Given the description of an element on the screen output the (x, y) to click on. 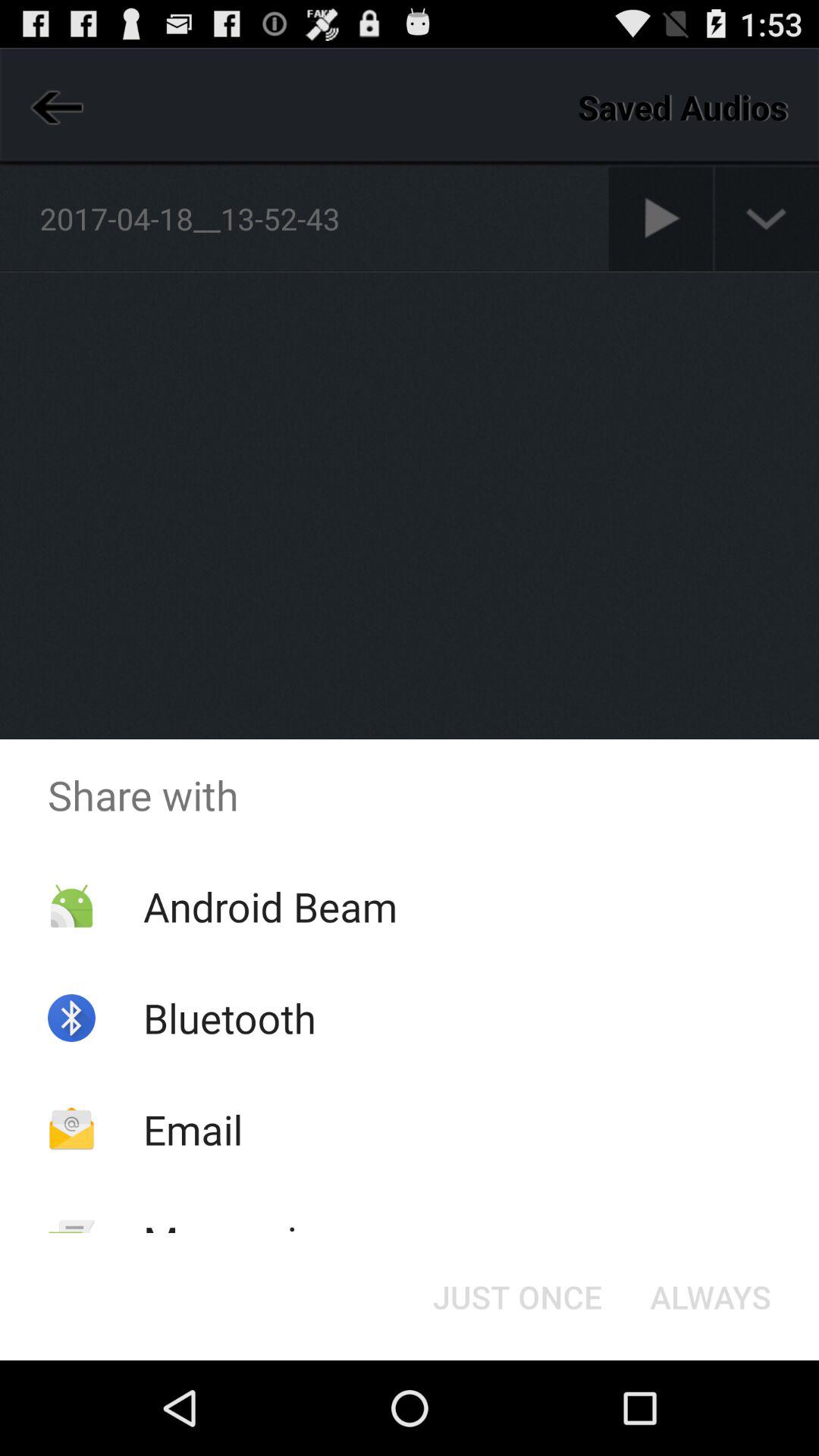
click app above email item (229, 1017)
